Given the description of an element on the screen output the (x, y) to click on. 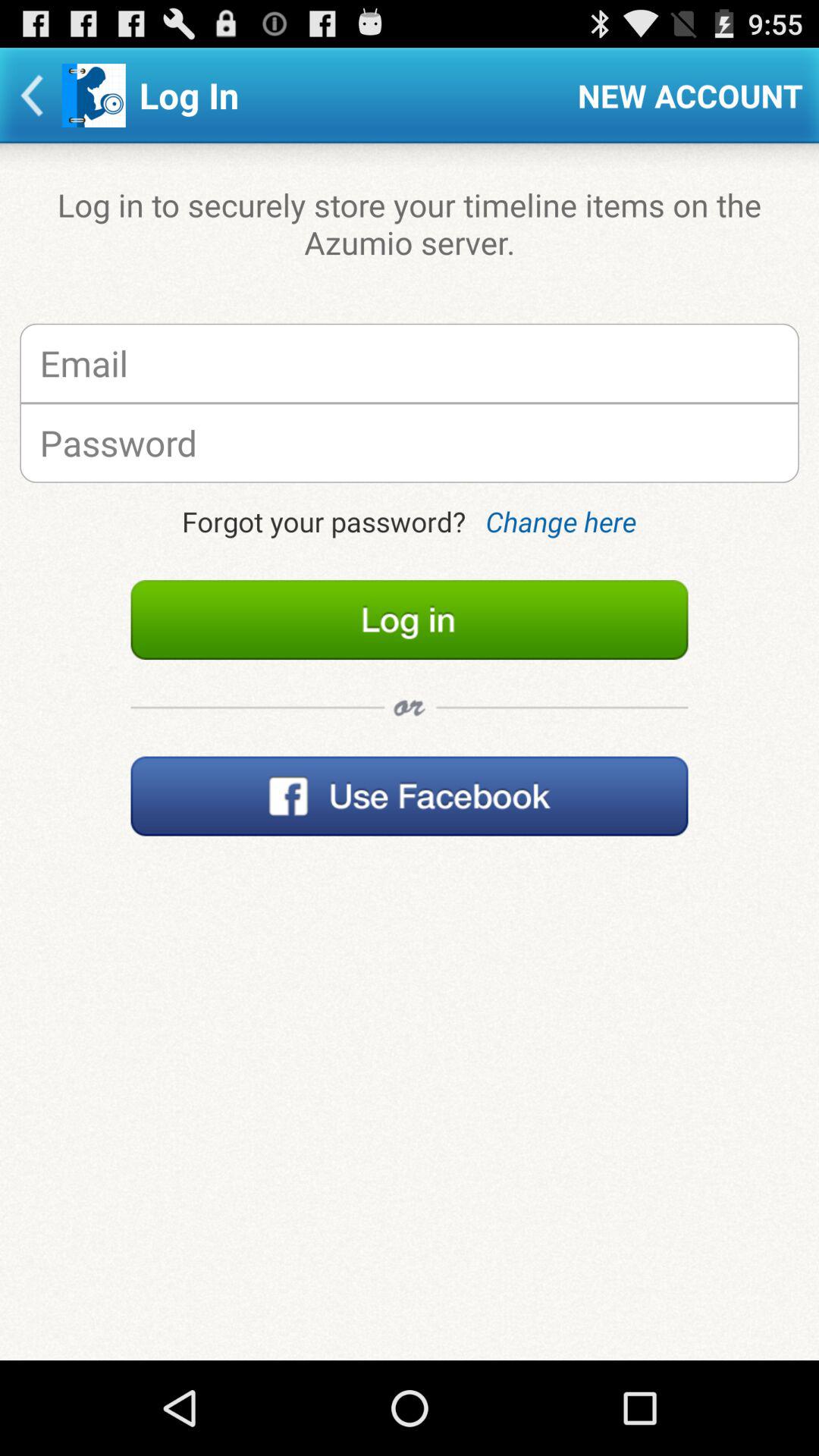
launch change here (560, 521)
